Given the description of an element on the screen output the (x, y) to click on. 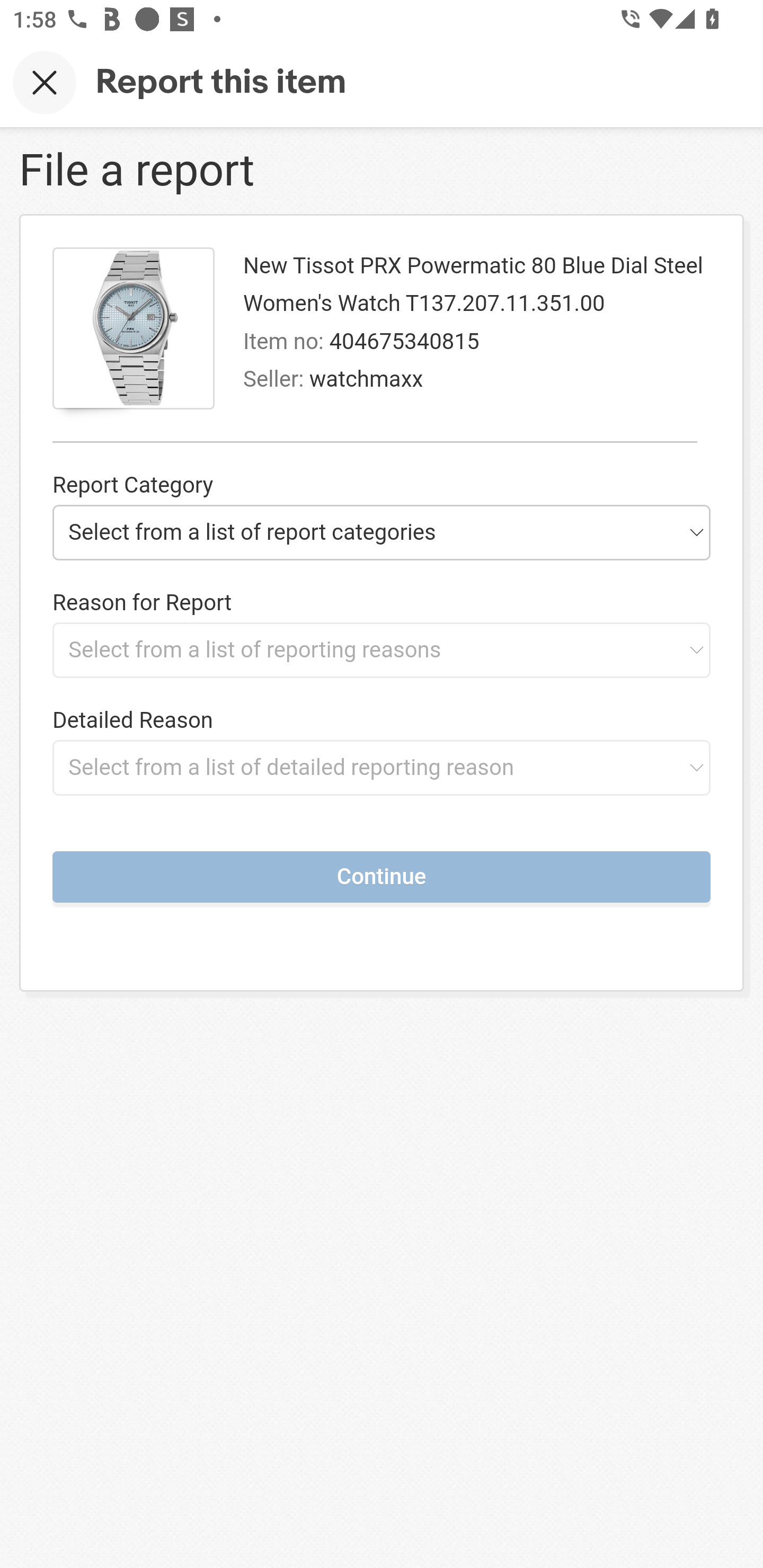
Close (44, 82)
Select from a list of report categories (381, 532)
Select from a list of reporting reasons (381, 649)
Select from a list of detailed reporting reason (381, 767)
Continue (381, 876)
